Given the description of an element on the screen output the (x, y) to click on. 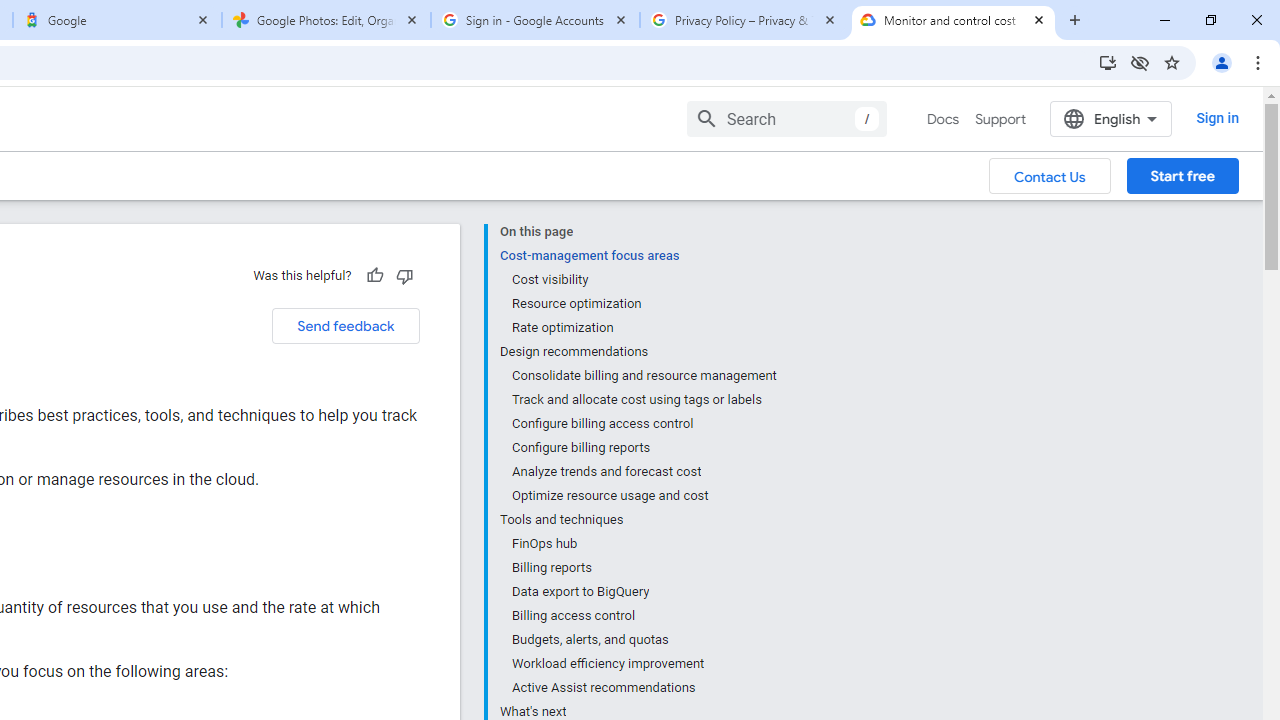
Sign in - Google Accounts (535, 20)
Cost visibility (643, 279)
Cost-management focus areas (637, 255)
Track and allocate cost using tags or labels (643, 399)
Configure billing reports (643, 448)
Data export to BigQuery (643, 592)
Search (786, 118)
Configure billing access control (643, 423)
Design recommendations (637, 351)
Workload efficiency improvement (643, 664)
